Given the description of an element on the screen output the (x, y) to click on. 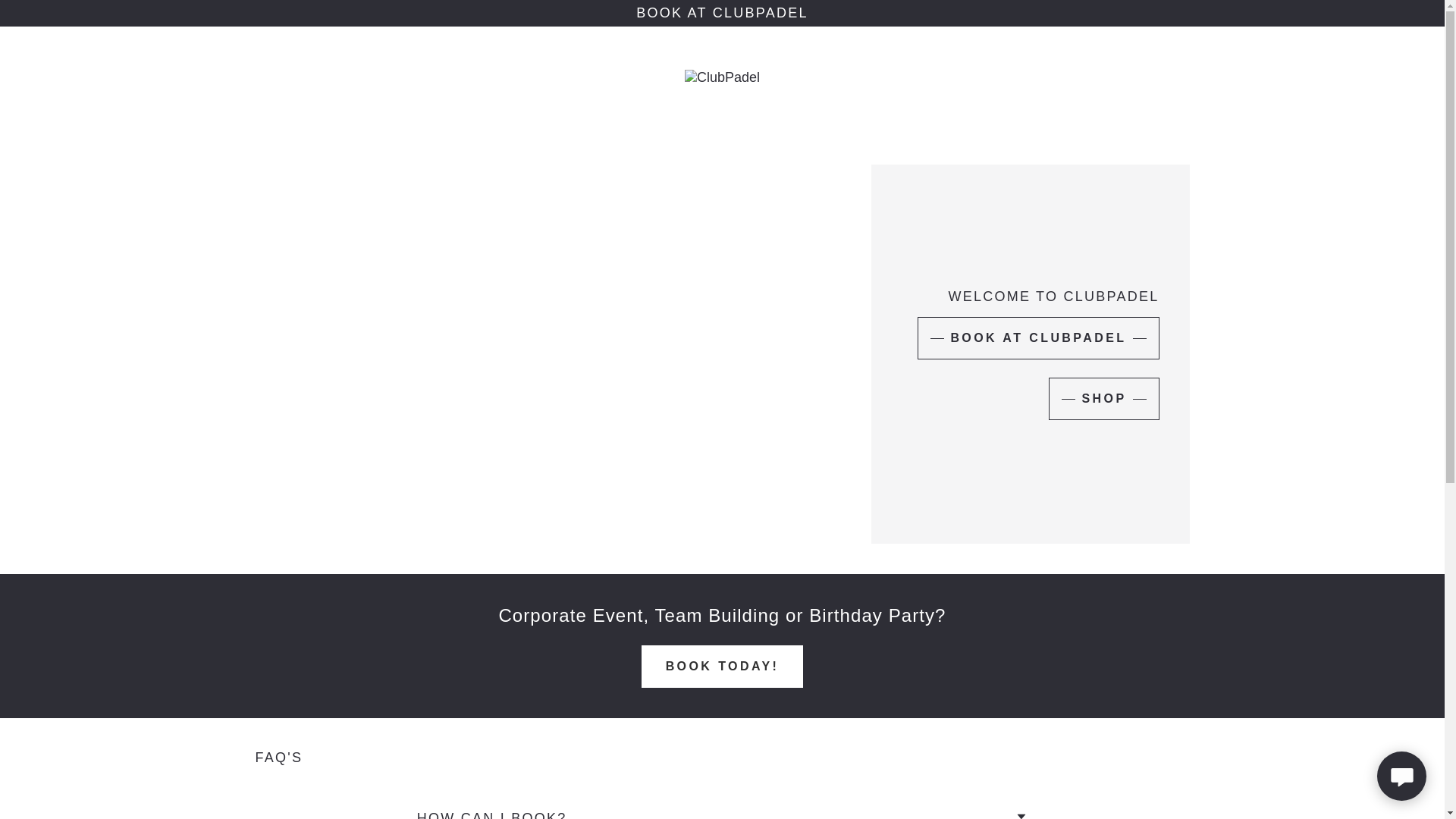
BOOK TODAY! (722, 666)
ClubPadel (722, 76)
HOW CAN I BOOK? (721, 811)
BOOK AT CLUBPADEL (1037, 337)
SHOP (1103, 398)
